Given the description of an element on the screen output the (x, y) to click on. 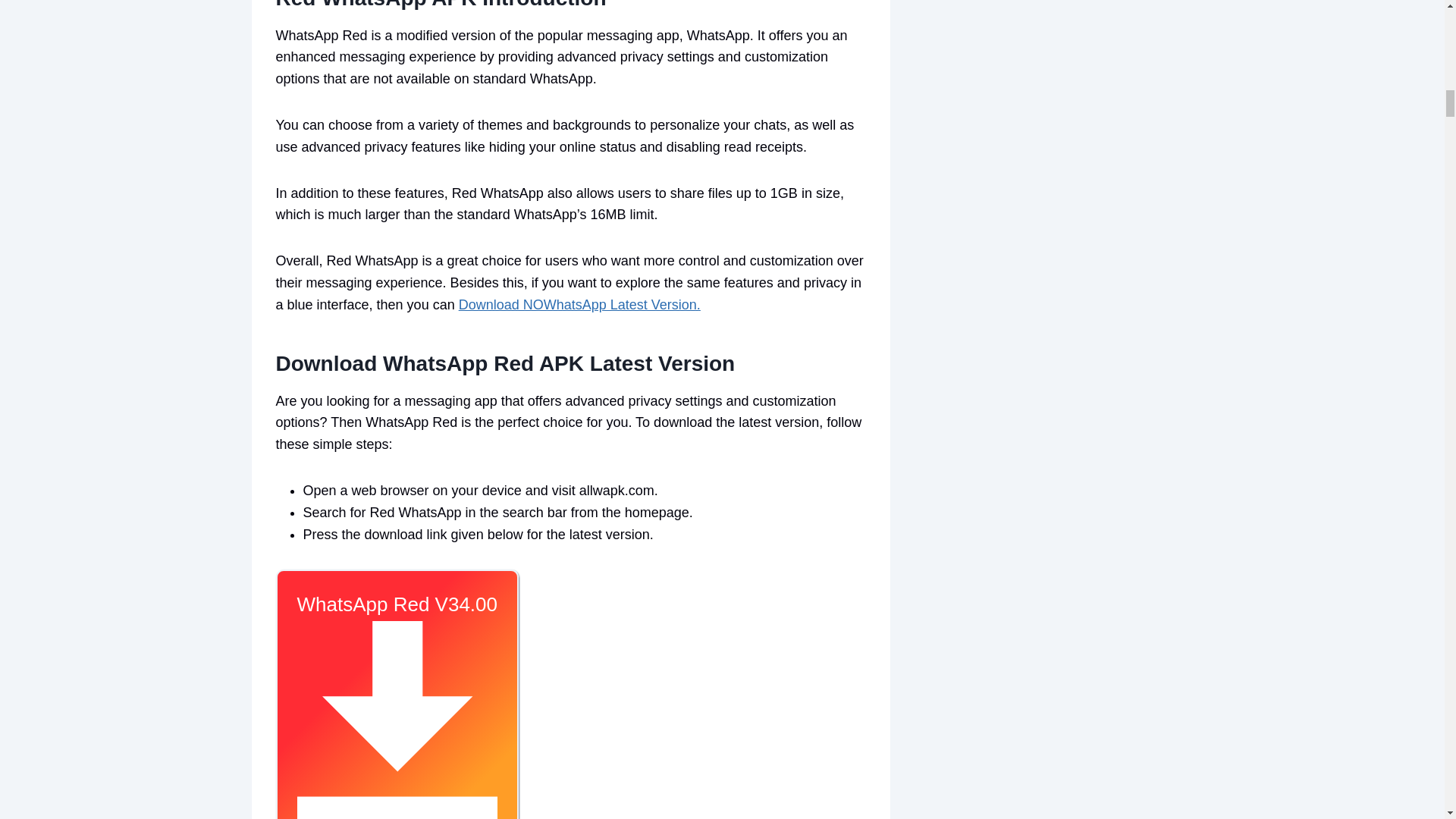
Download NOWhatsApp Latest Version. (579, 304)
WhatsApp Red V34.00 (397, 694)
